Given the description of an element on the screen output the (x, y) to click on. 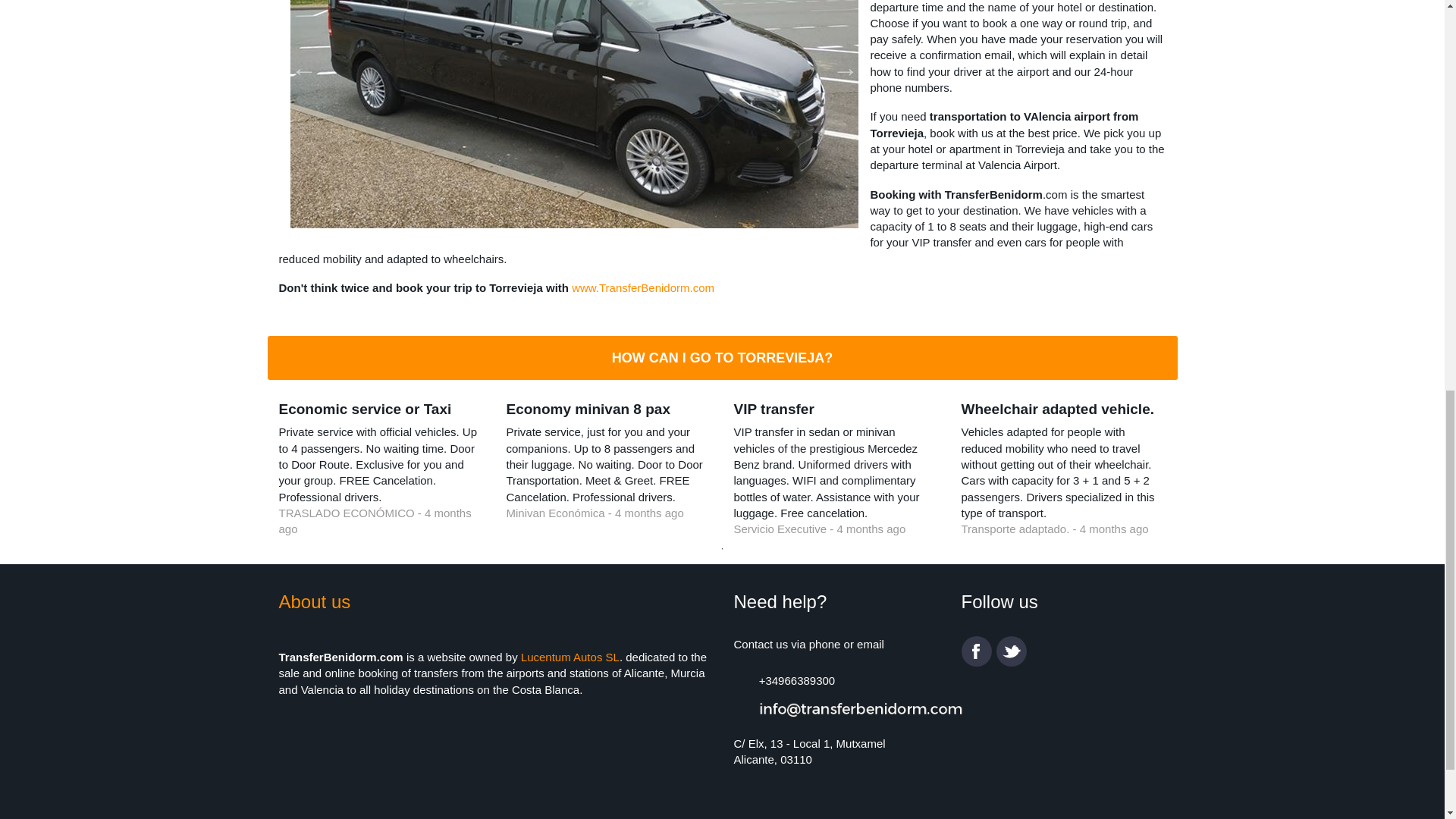
Facebook (975, 651)
PREVIOUS (298, 64)
Twitter (1010, 651)
About us (314, 601)
twitter (1010, 651)
1 (721, 548)
NEXT (839, 64)
Lucentum Autos SL (570, 656)
www.TransferBenidorm.com (643, 287)
facebook (975, 651)
